Given the description of an element on the screen output the (x, y) to click on. 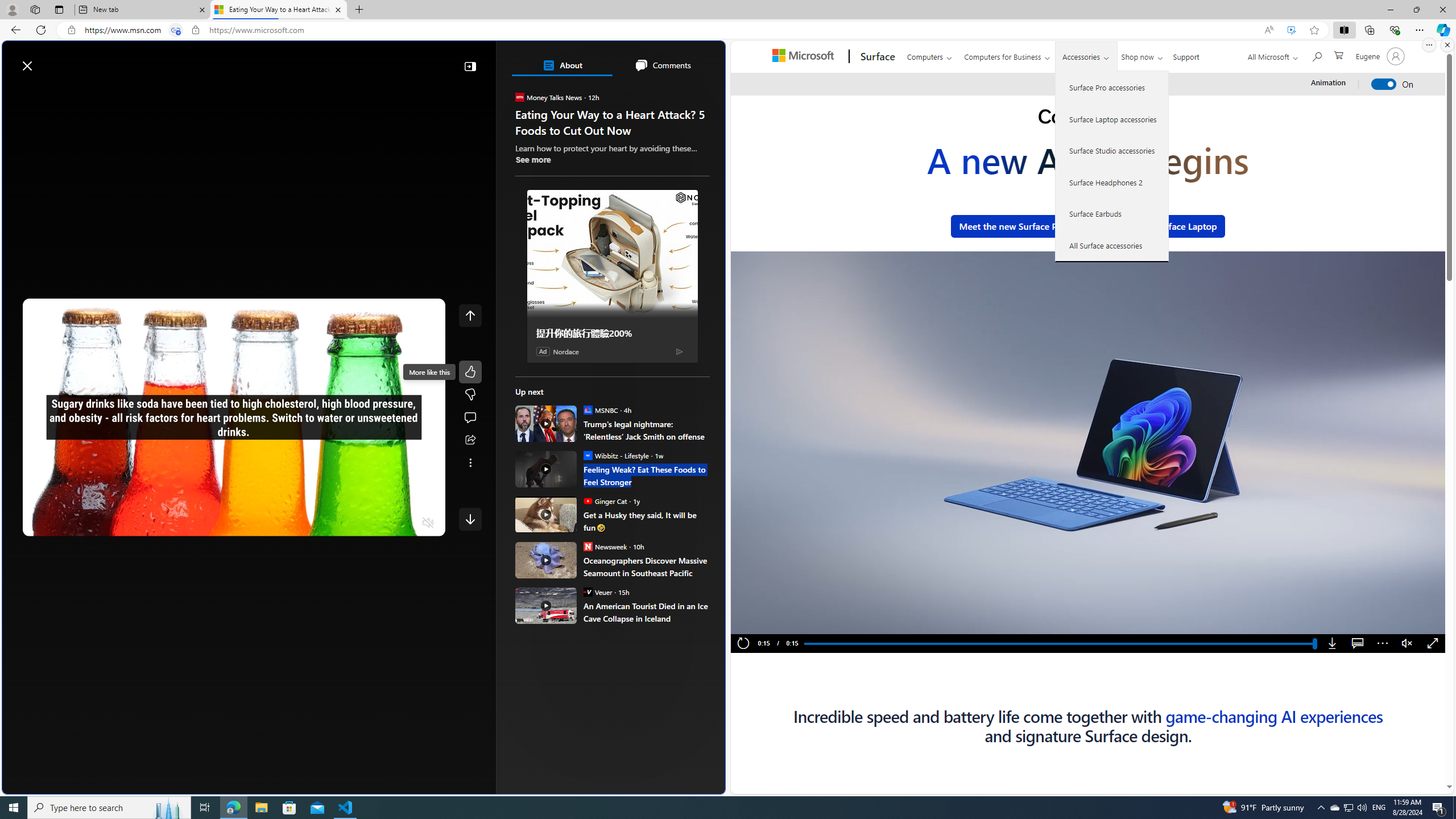
Animation On (1383, 84)
Surface Earbuds (1112, 214)
Account manager for Eugene (1378, 55)
ABC News (554, 415)
Surface Laptop accessories (1112, 119)
An American Tourist Died in an Ice Cave Collapse in Iceland (545, 605)
Copilot+ PC. (1088, 117)
